Given the description of an element on the screen output the (x, y) to click on. 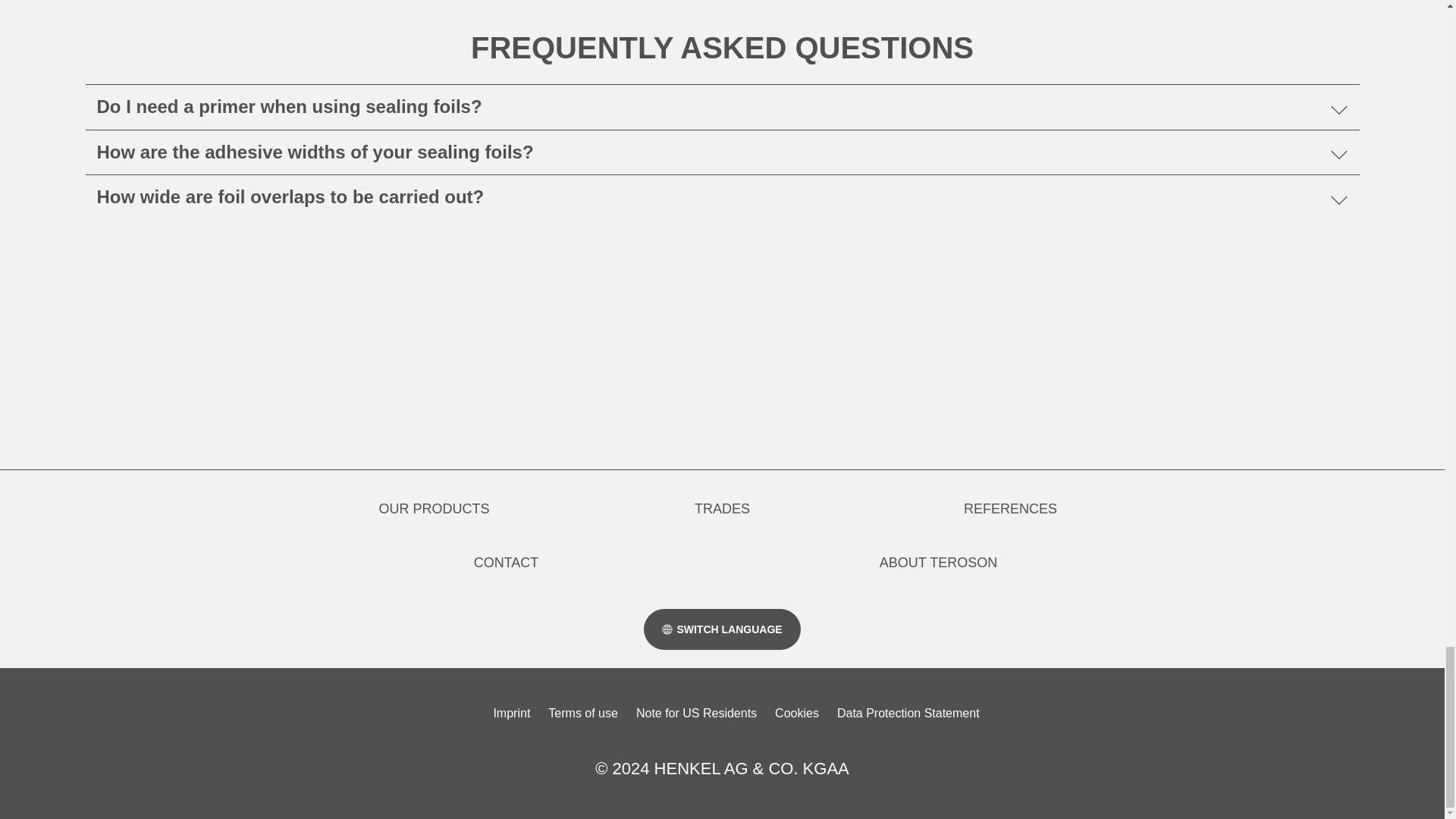
REFERENCES (1010, 508)
TRADES (721, 508)
Do I need a primer when using sealing foils? (721, 107)
How wide are foil overlaps to be carried out? (721, 197)
OUR PRODUCTS (433, 508)
How are the adhesive widths of your sealing foils? (721, 152)
